Given the description of an element on the screen output the (x, y) to click on. 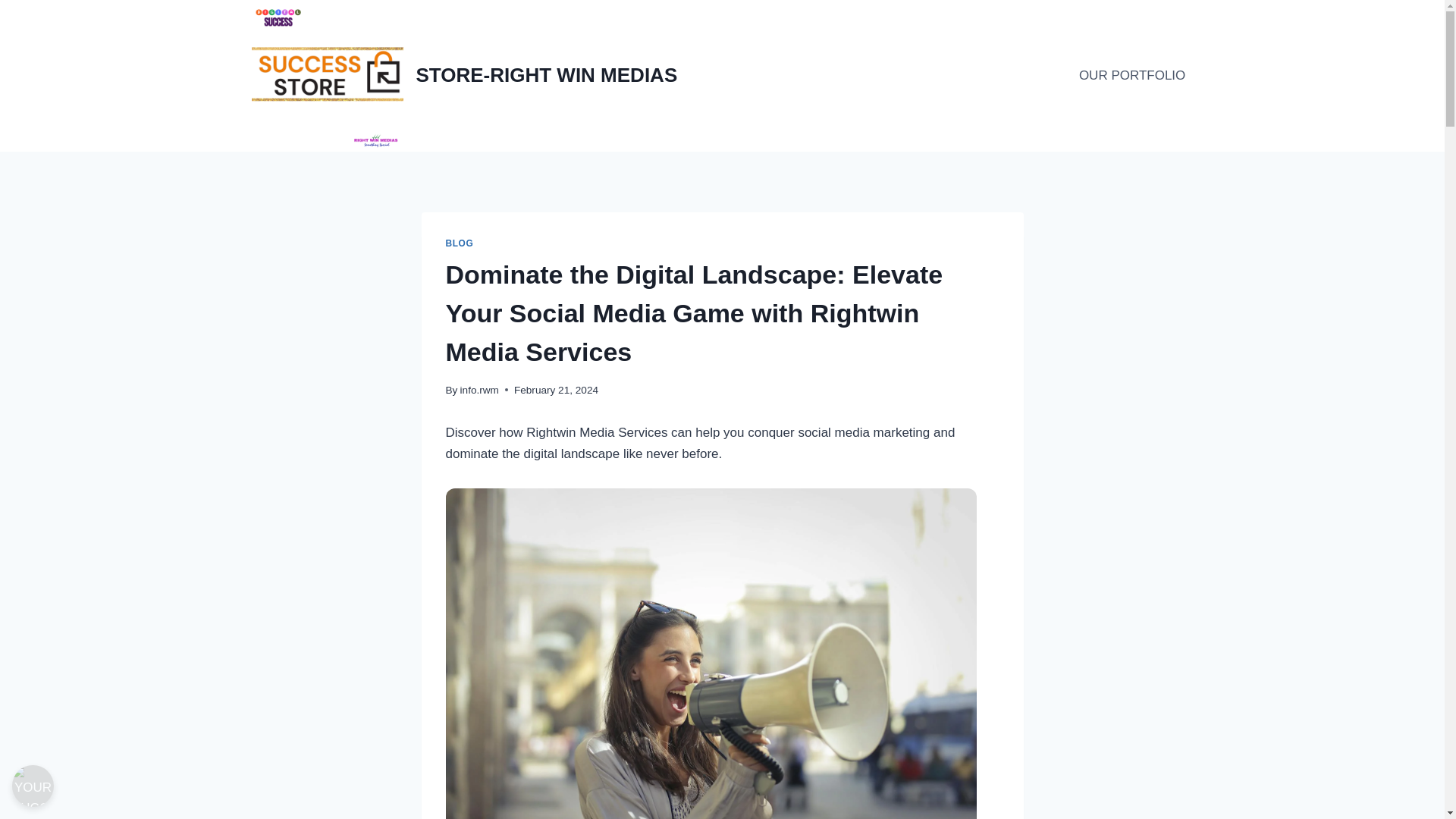
info.rwm (479, 389)
STORE-RIGHT WIN MEDIAS (464, 75)
BLOG (459, 243)
OUR PORTFOLIO (1132, 75)
